Given the description of an element on the screen output the (x, y) to click on. 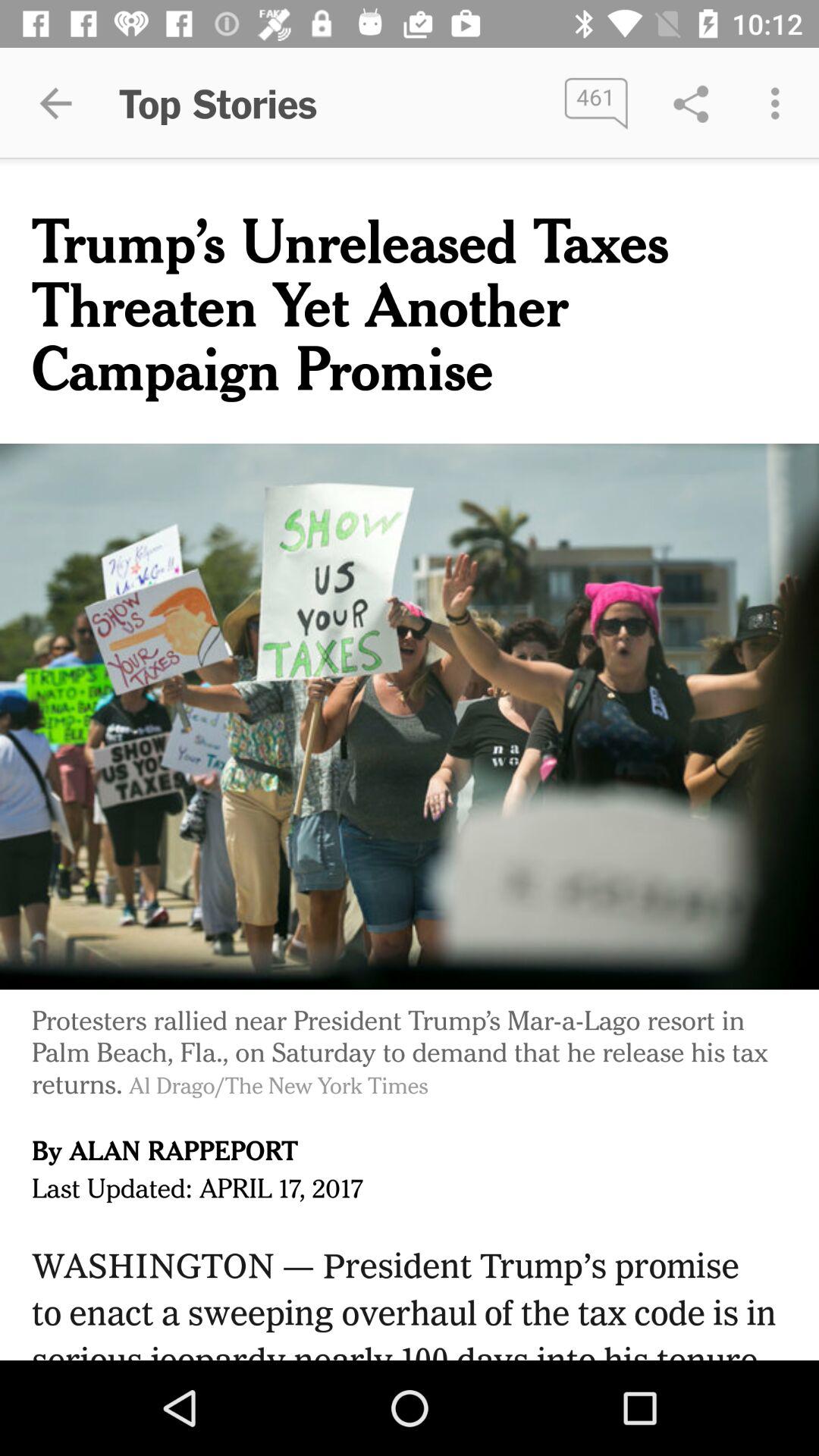
press item next to the top stories icon (55, 103)
